Given the description of an element on the screen output the (x, y) to click on. 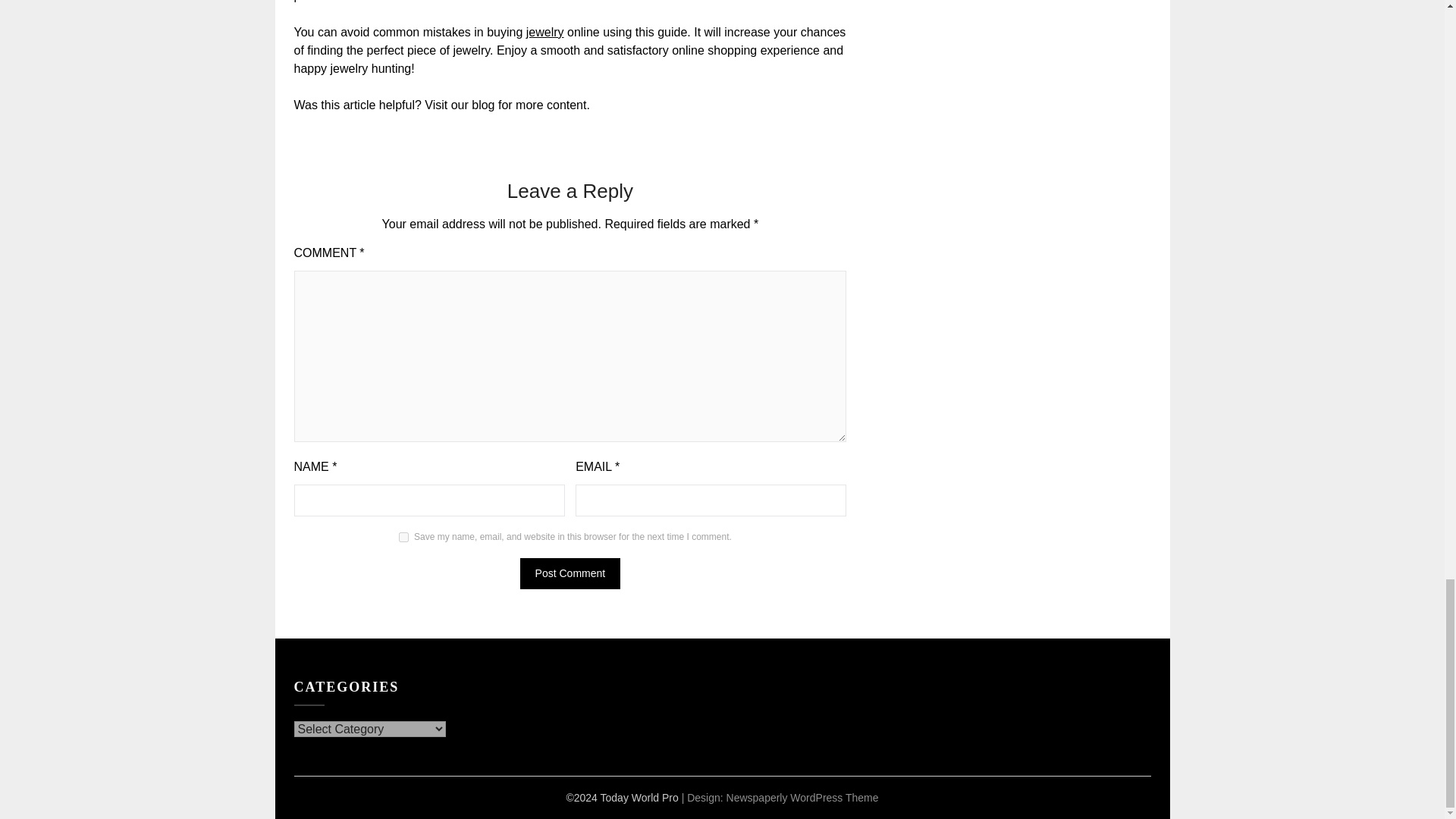
Newspaperly WordPress Theme (802, 797)
Post Comment (570, 572)
yes (403, 537)
jewelry (544, 31)
Post Comment (570, 572)
